Given the description of an element on the screen output the (x, y) to click on. 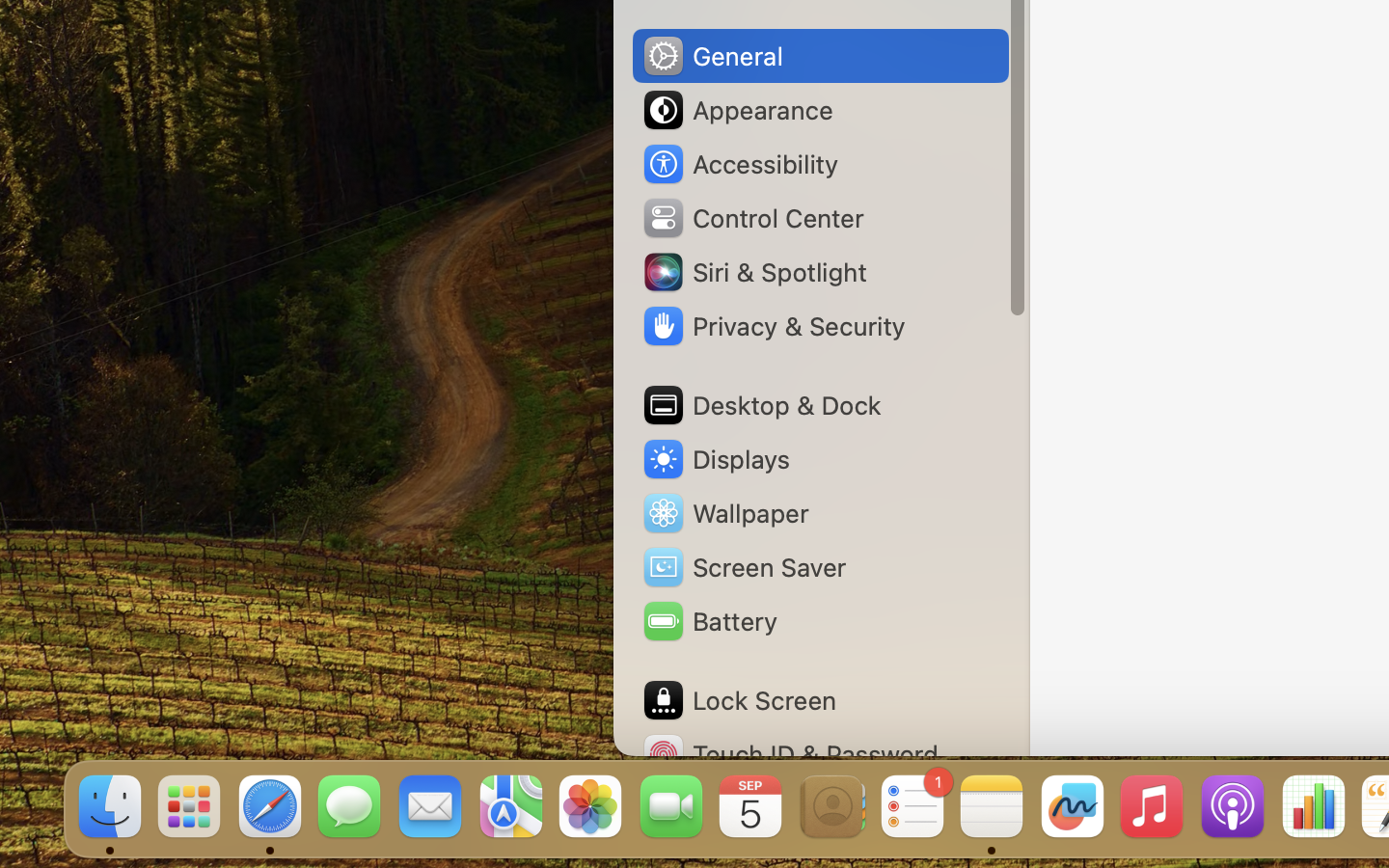
Screen Saver Element type: AXStaticText (743, 566)
Desktop & Dock Element type: AXStaticText (760, 404)
Wallpaper Element type: AXStaticText (724, 512)
Battery Element type: AXStaticText (708, 620)
General Element type: AXStaticText (711, 55)
